Given the description of an element on the screen output the (x, y) to click on. 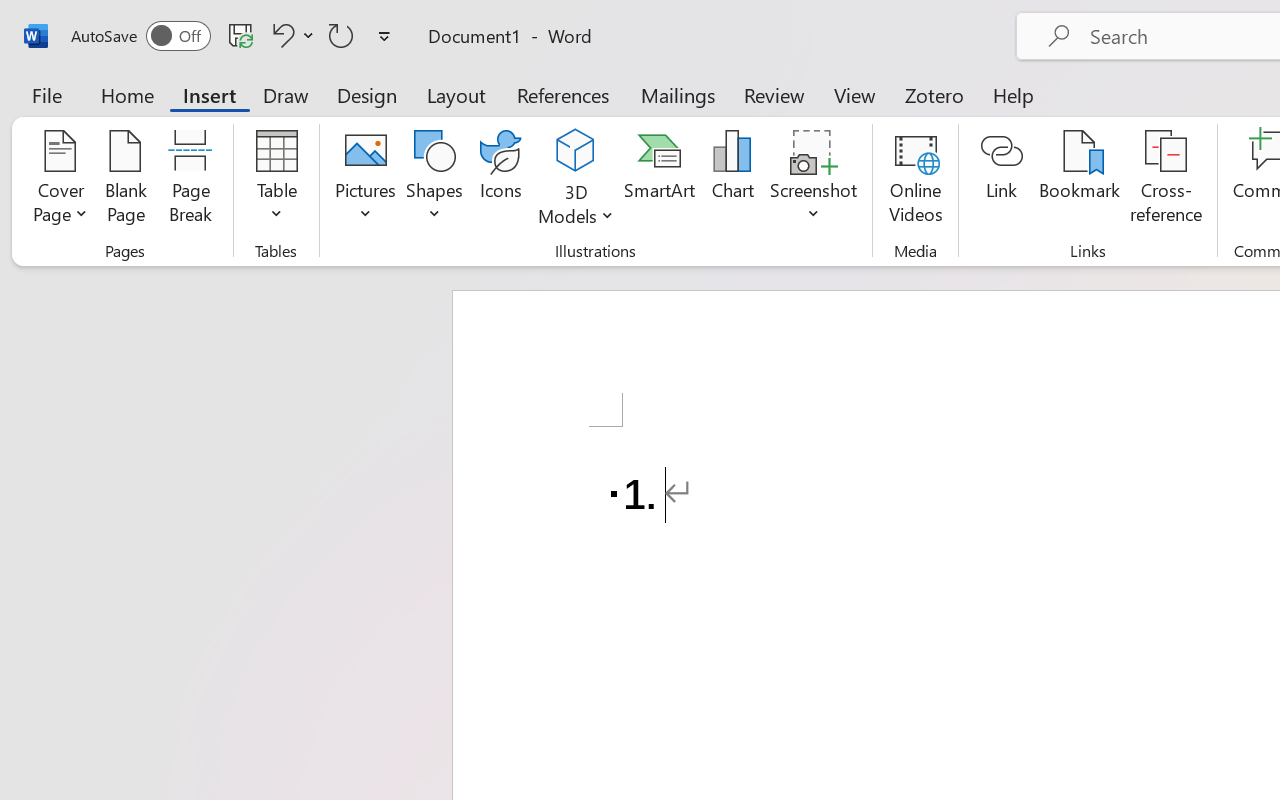
Shapes (435, 179)
3D Models (576, 179)
SmartArt... (659, 179)
Bookmark... (1079, 179)
Pictures (365, 179)
Table (276, 179)
Link (1001, 179)
Icons (500, 179)
